Given the description of an element on the screen output the (x, y) to click on. 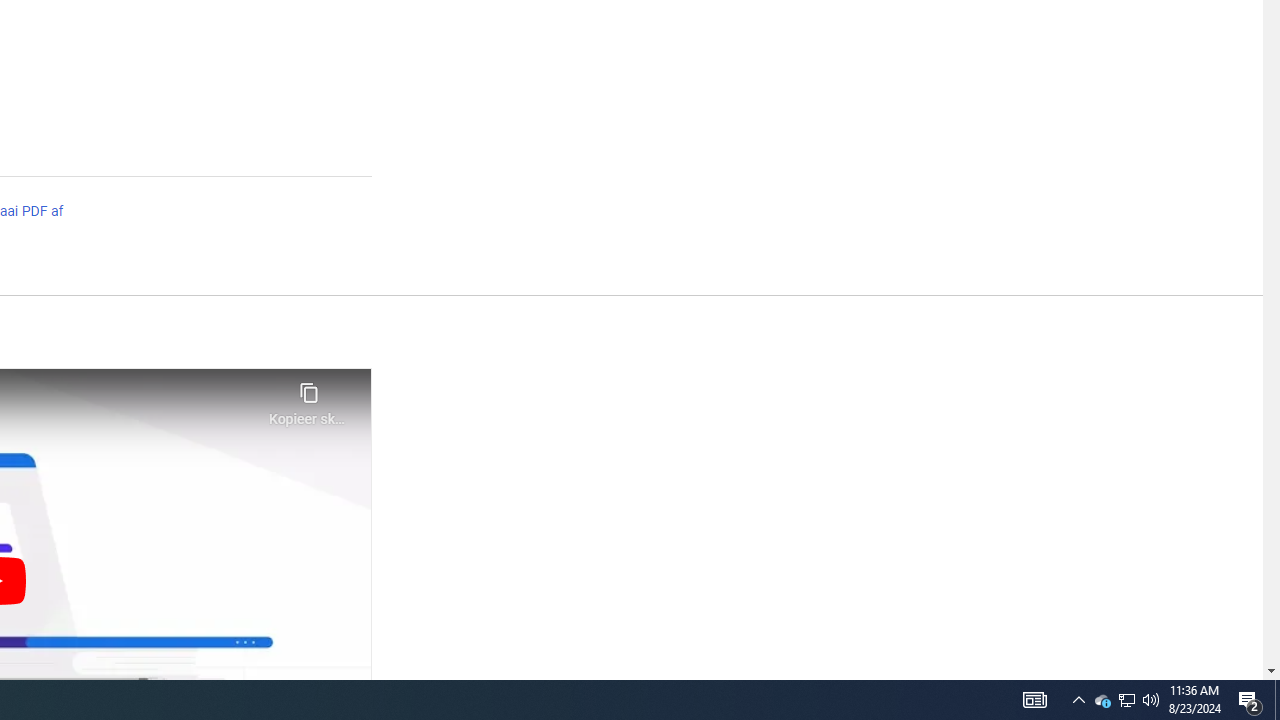
Kopieer skakel (308, 398)
